Given the description of an element on the screen output the (x, y) to click on. 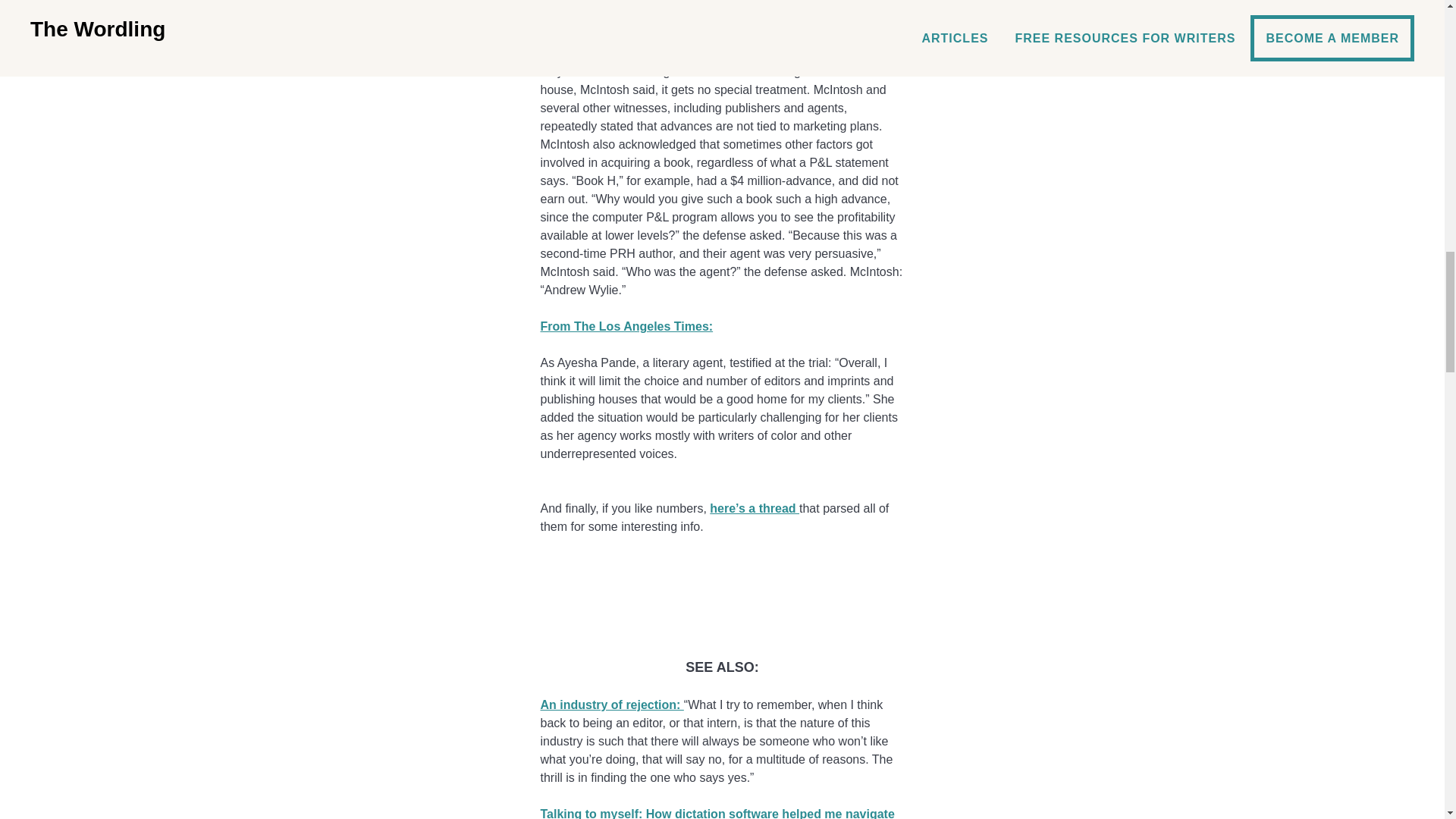
From Publishers Weekly: (612, 2)
An industry of rejection: (611, 704)
facebook (721, 563)
twitter (721, 587)
From The Los Angeles Times: (626, 326)
E-Mail (721, 611)
